Given the description of an element on the screen output the (x, y) to click on. 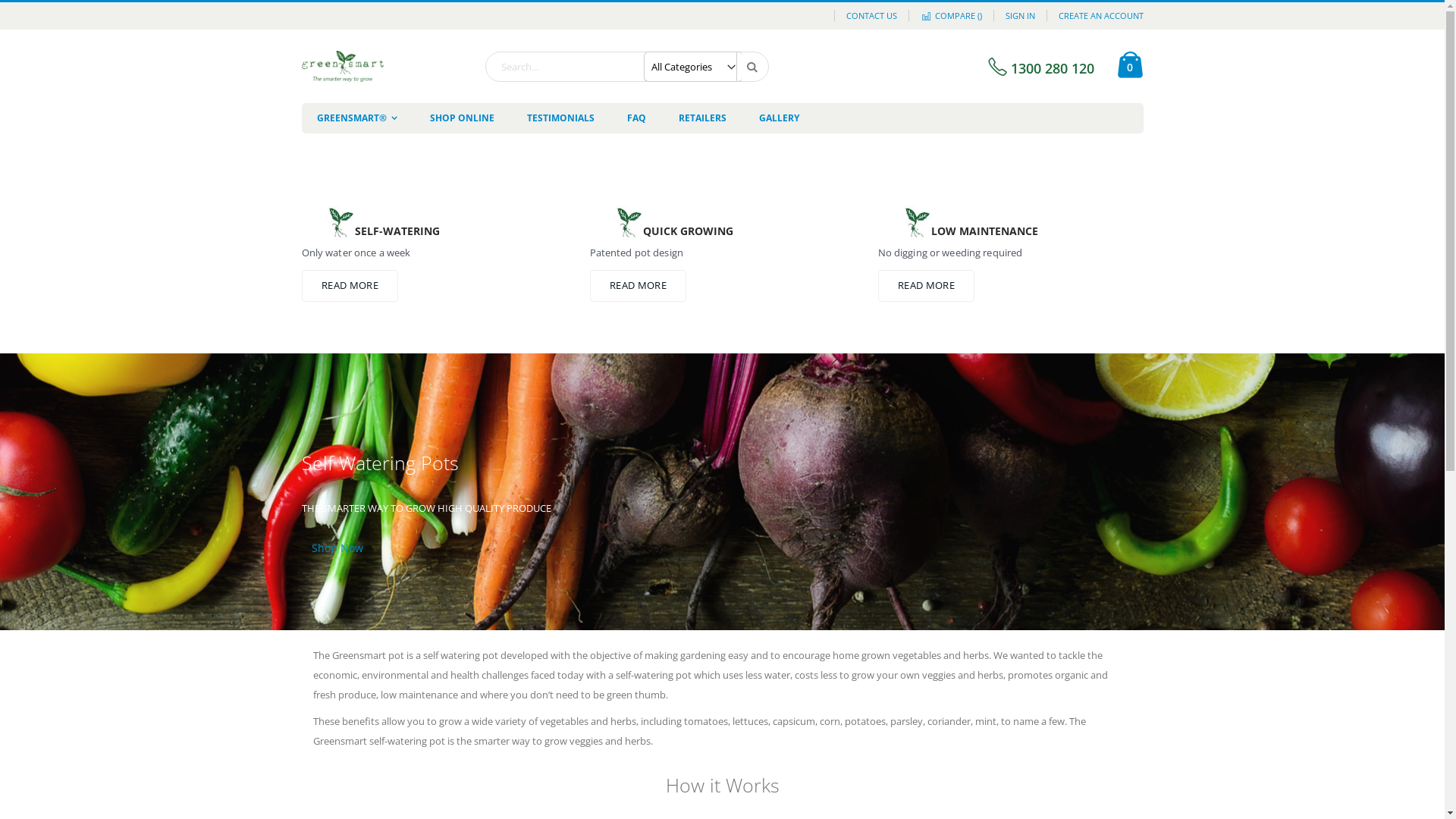
Skip to Content Element type: text (300, 9)
TESTIMONIALS Element type: text (559, 118)
SHOP ONLINE Element type: text (461, 118)
READ MORE Element type: text (926, 285)
CREATE AN ACCOUNT Element type: text (1094, 15)
GALLERY Element type: text (778, 118)
READ MORE Element type: text (349, 285)
Cart
0 Element type: text (1129, 66)
Search Element type: text (751, 66)
1300 280 120 Element type: text (1039, 68)
Shop Now Element type: text (337, 548)
CONTACT US Element type: text (871, 15)
RETAILERS Element type: text (701, 118)
READ MORE Element type: text (638, 285)
COMPARE () Element type: text (950, 15)
SIGN IN Element type: text (1019, 15)
FAQ Element type: text (635, 118)
